Given the description of an element on the screen output the (x, y) to click on. 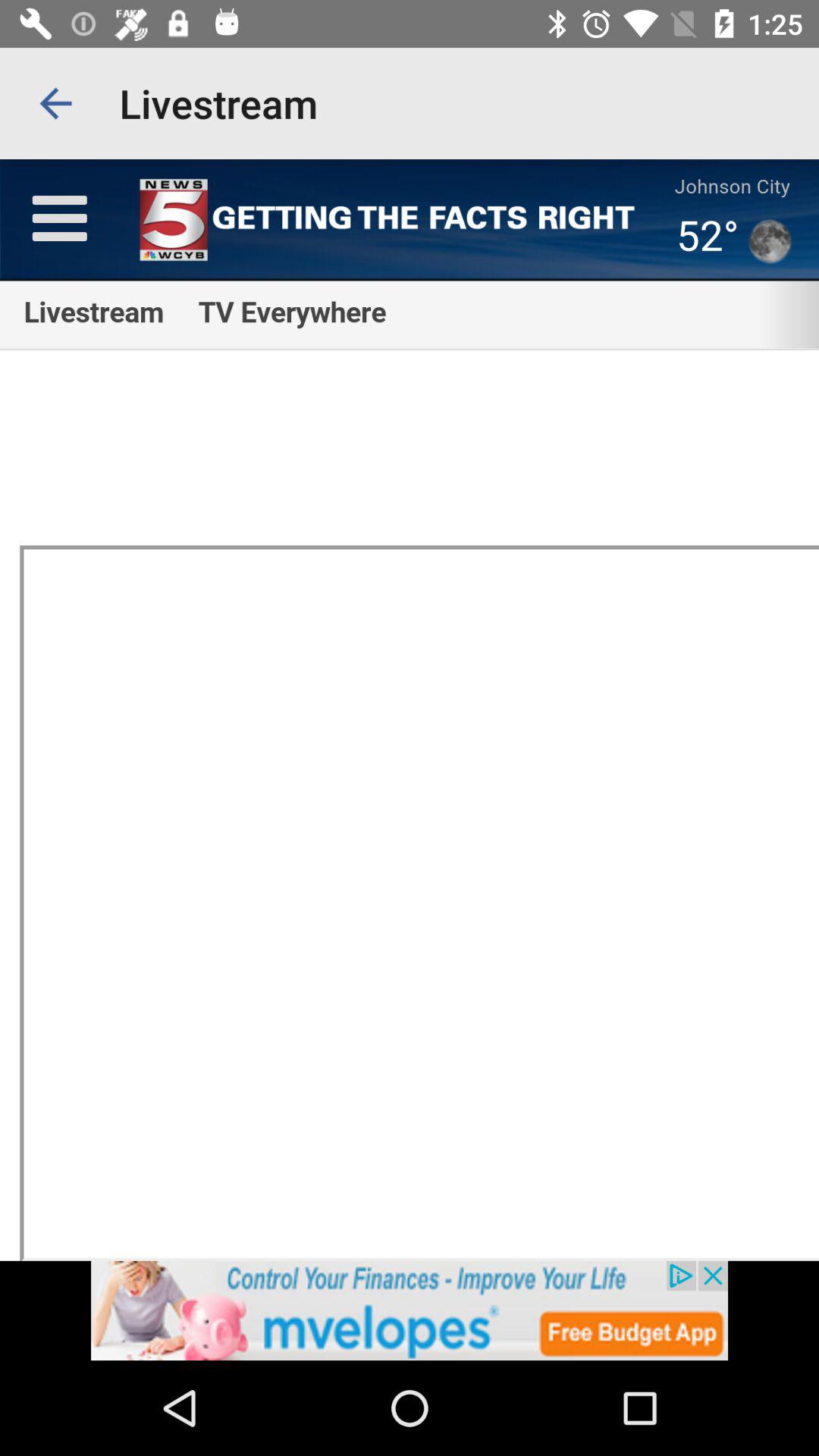
advertisement website (409, 1310)
